Given the description of an element on the screen output the (x, y) to click on. 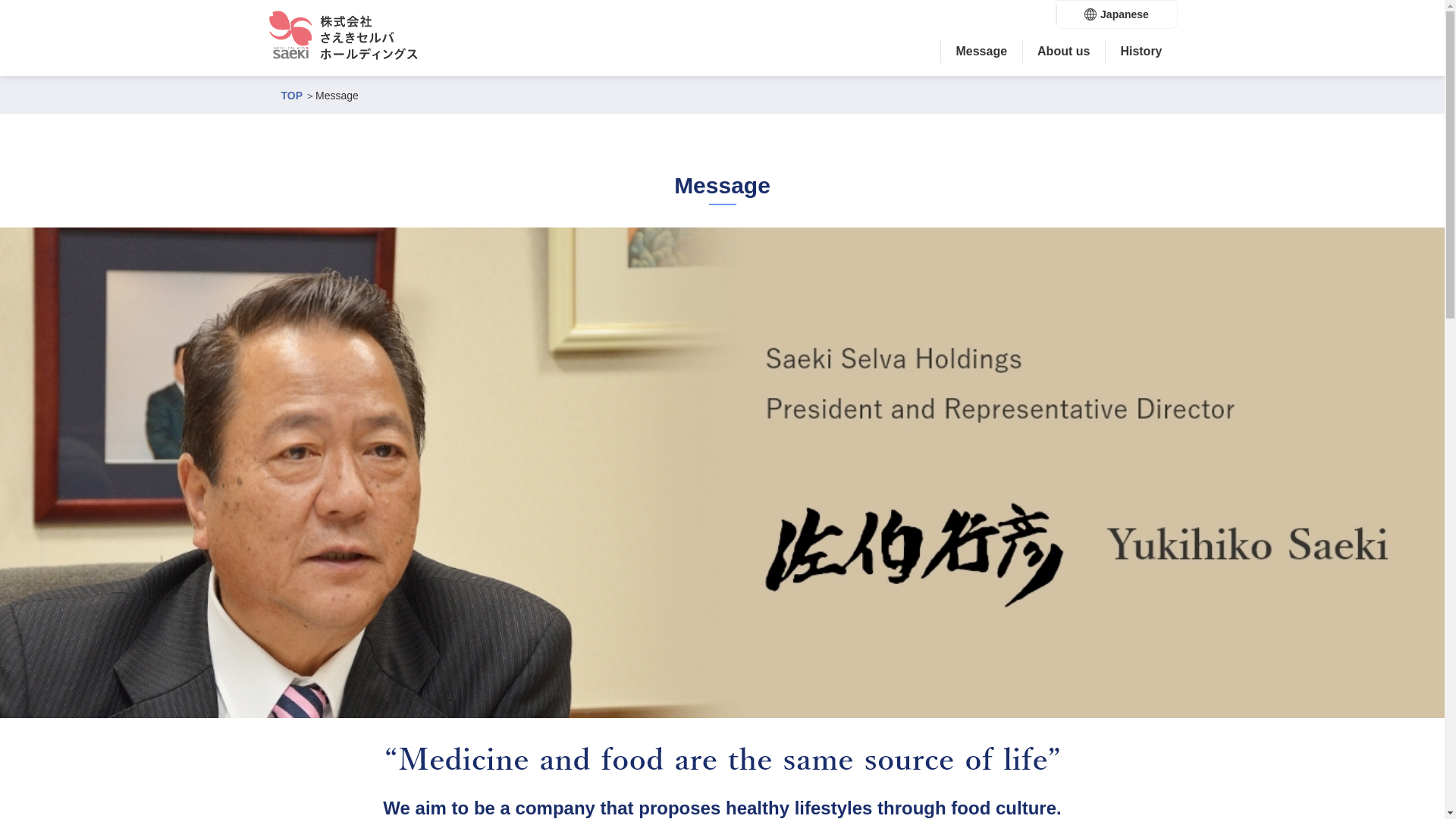
TOP (291, 95)
Japanese (1116, 14)
Message (981, 51)
History (1140, 51)
About us (1062, 51)
